Given the description of an element on the screen output the (x, y) to click on. 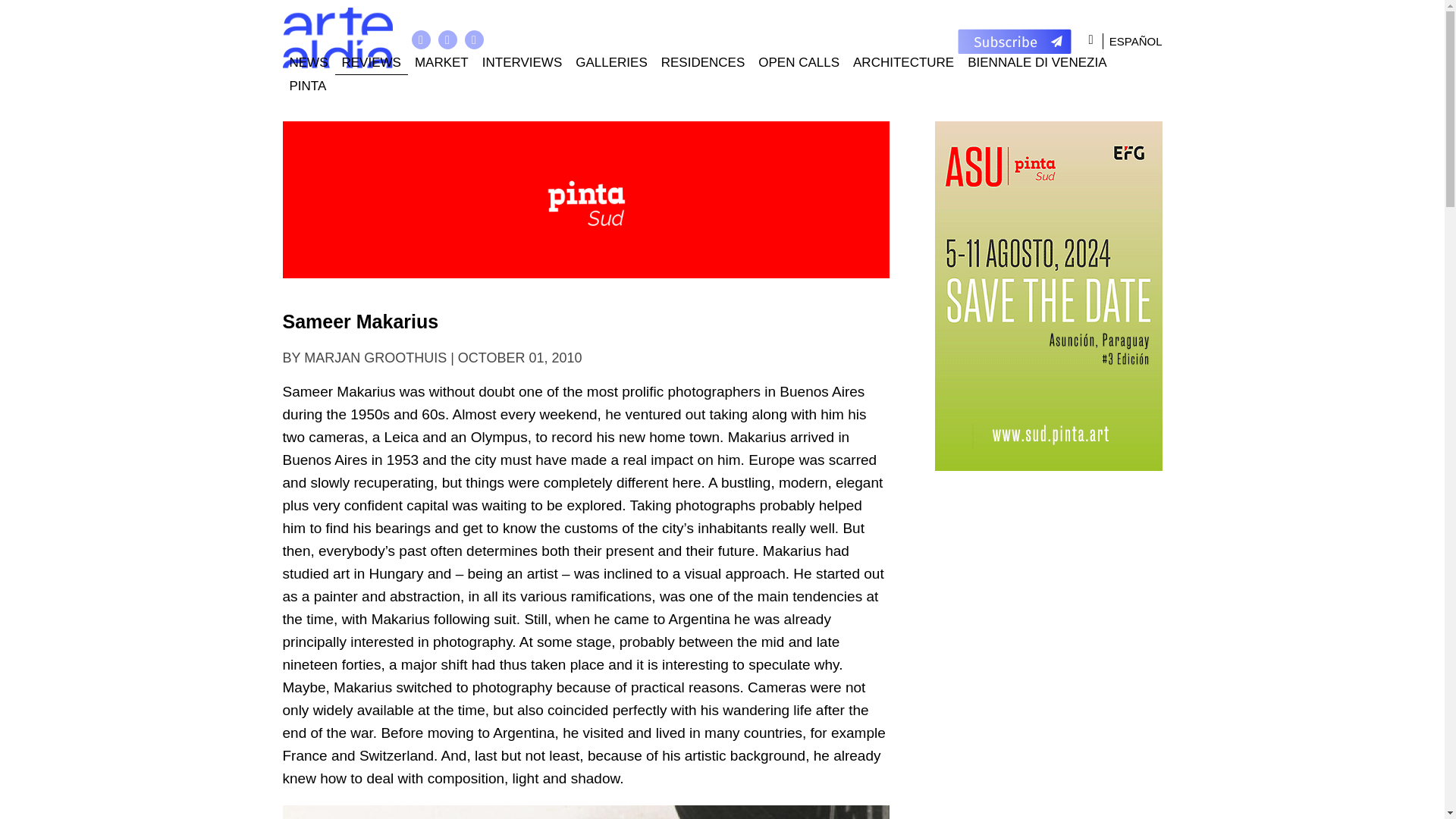
NEWS (308, 63)
PINTA (307, 86)
INTERVIEWS (522, 63)
ARCHITECTURE (902, 63)
RESIDENCES (702, 63)
MARKET (441, 63)
REVIEWS (370, 63)
BIENNALE DI VENEZIA (1036, 63)
OPEN CALLS (798, 63)
Home (336, 37)
GALLERIES (611, 63)
